Given the description of an element on the screen output the (x, y) to click on. 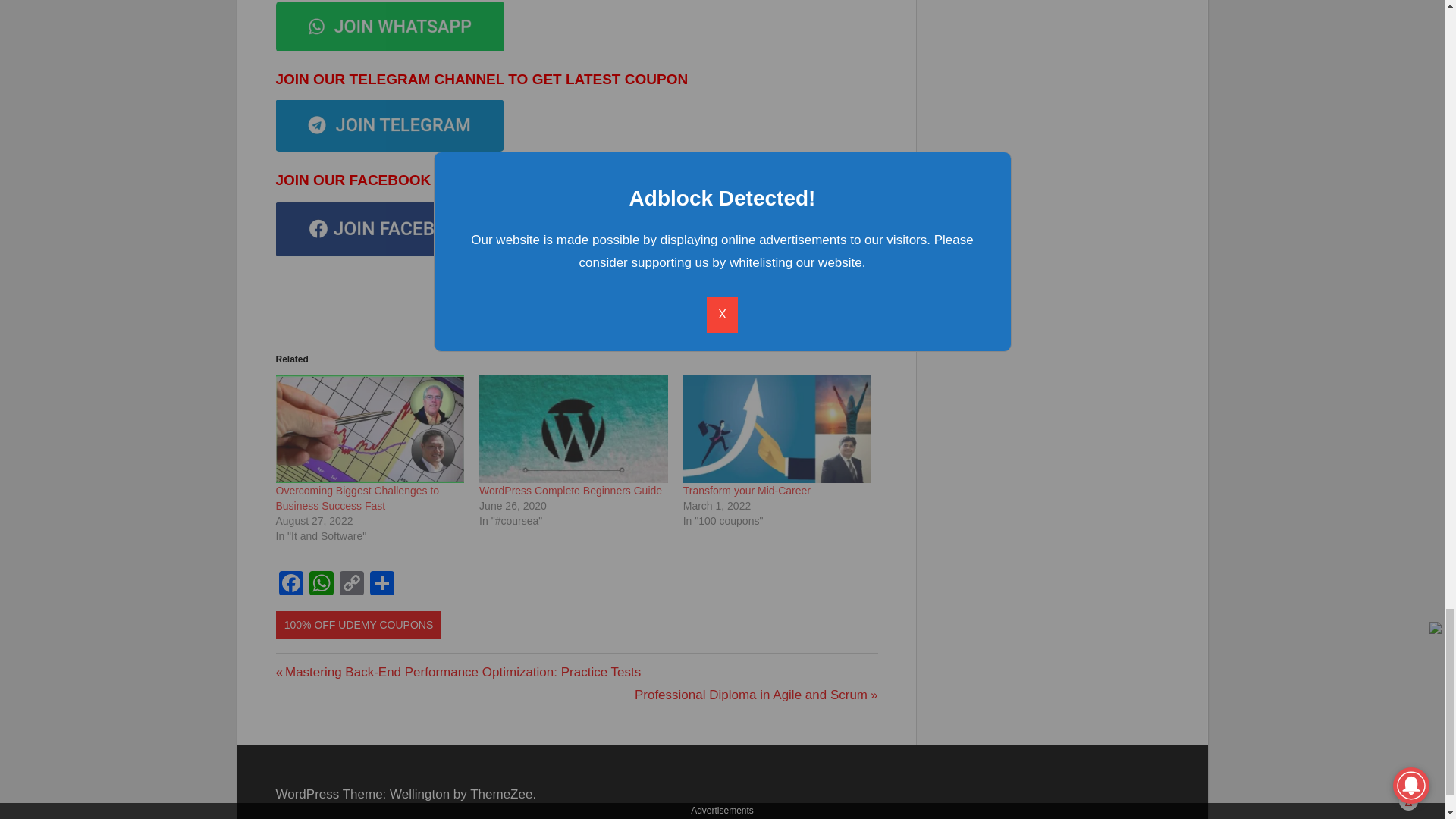
Overcoming Biggest Challenges to Business Success Fast (357, 497)
Ethically Hack the Planet Part 4 3 (389, 25)
Share (381, 584)
WordPress Complete Beginners Guide (570, 490)
Ethically Hack the Planet Part 4 5 (389, 229)
Ethically Hack the Planet Part 4 4 (389, 125)
Transform your Mid-Career (746, 490)
Overcoming Biggest Challenges to Business Success Fast (755, 694)
Overcoming Biggest Challenges to Business Success Fast (357, 497)
WordPress Complete Beginners Guide (370, 429)
Copy Link (573, 429)
Facebook (351, 584)
WhatsApp (290, 584)
